Given the description of an element on the screen output the (x, y) to click on. 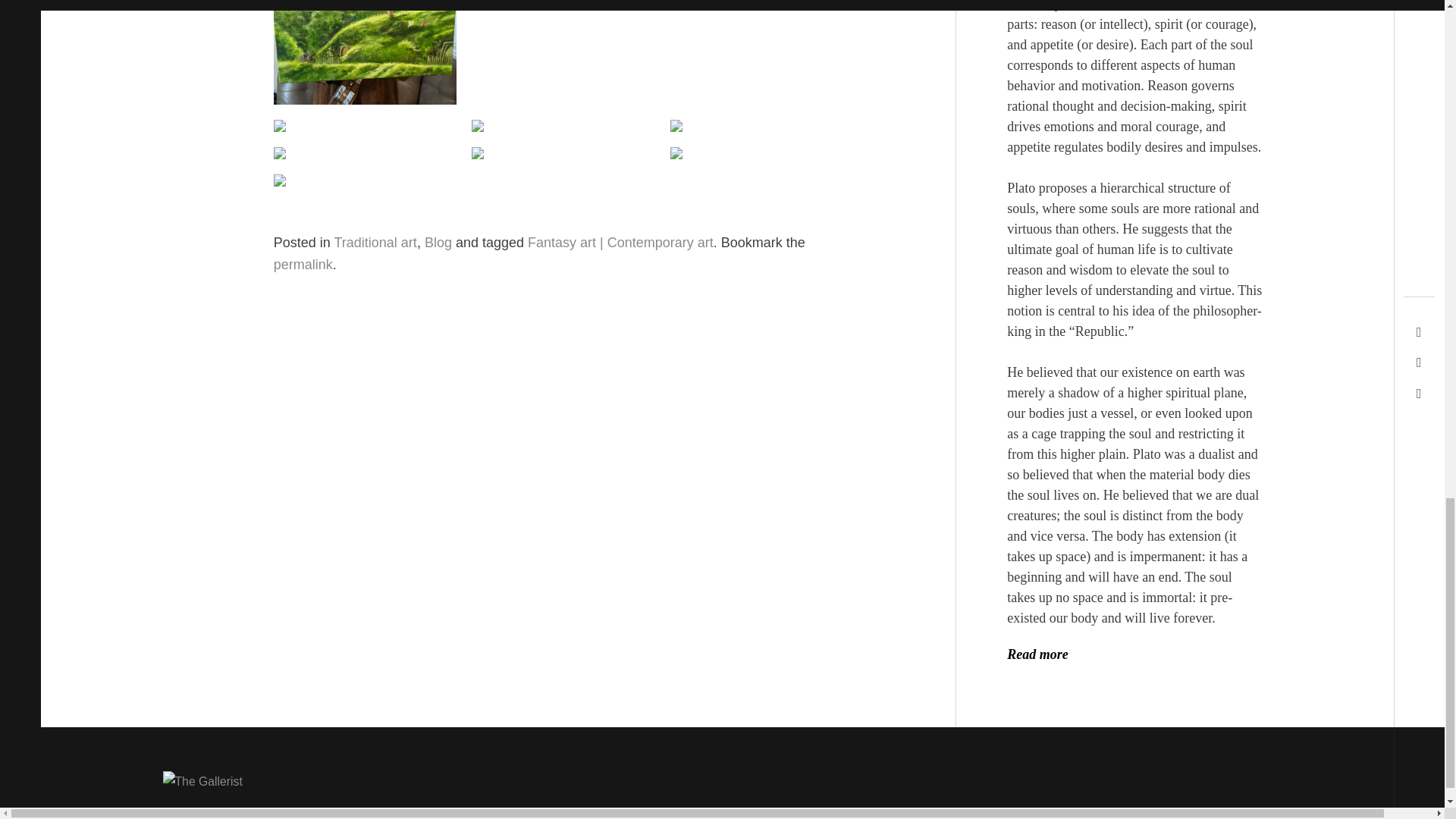
Plato And The Soul (1037, 654)
